Given the description of an element on the screen output the (x, y) to click on. 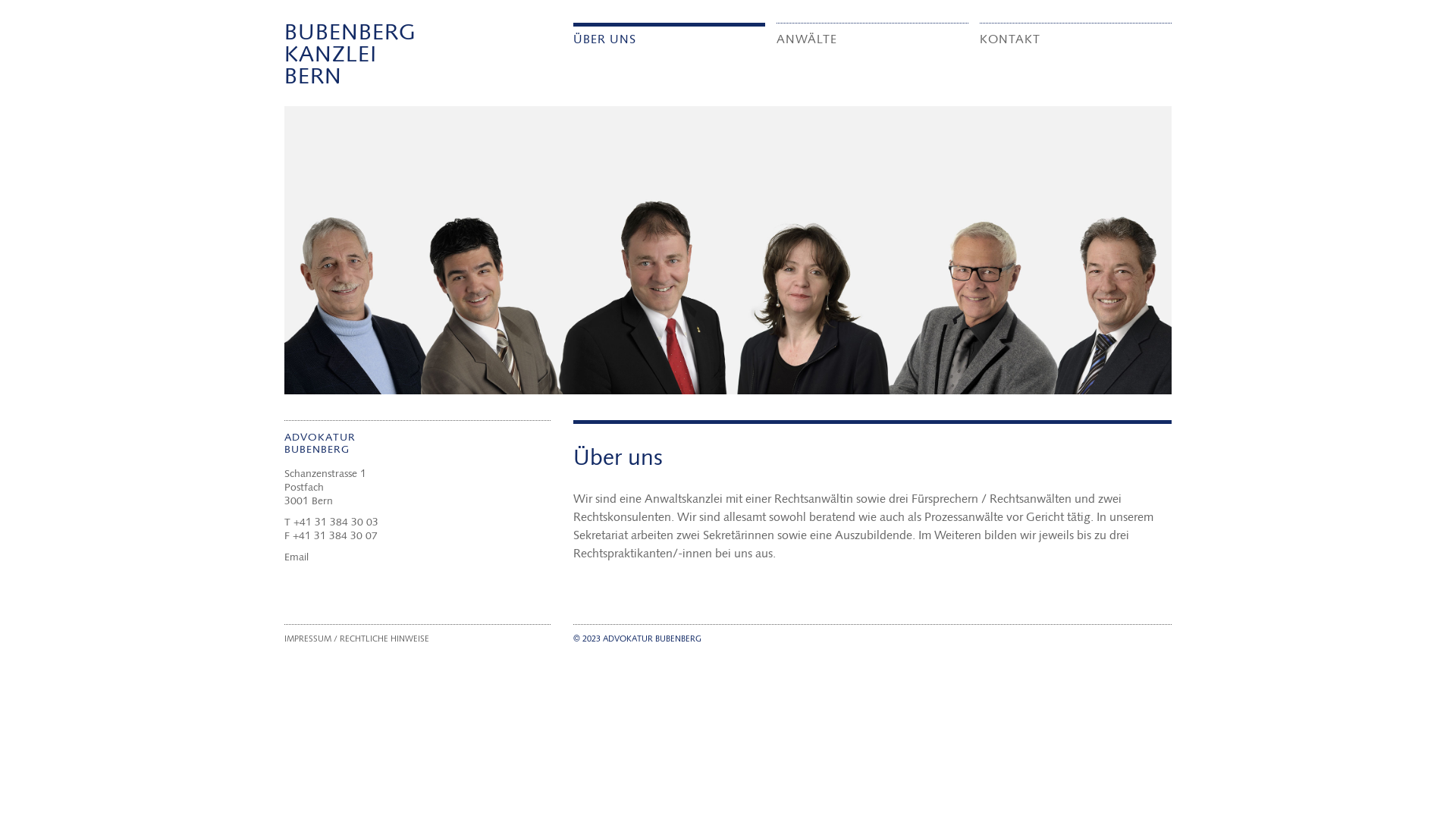
BUBENBERG
KANZLEI
BERN Element type: text (350, 55)
Email Element type: text (296, 557)
IMPRESSUM / RECHTLICHE HINWEISE Element type: text (356, 639)
KONTAKT Element type: text (1009, 34)
